Given the description of an element on the screen output the (x, y) to click on. 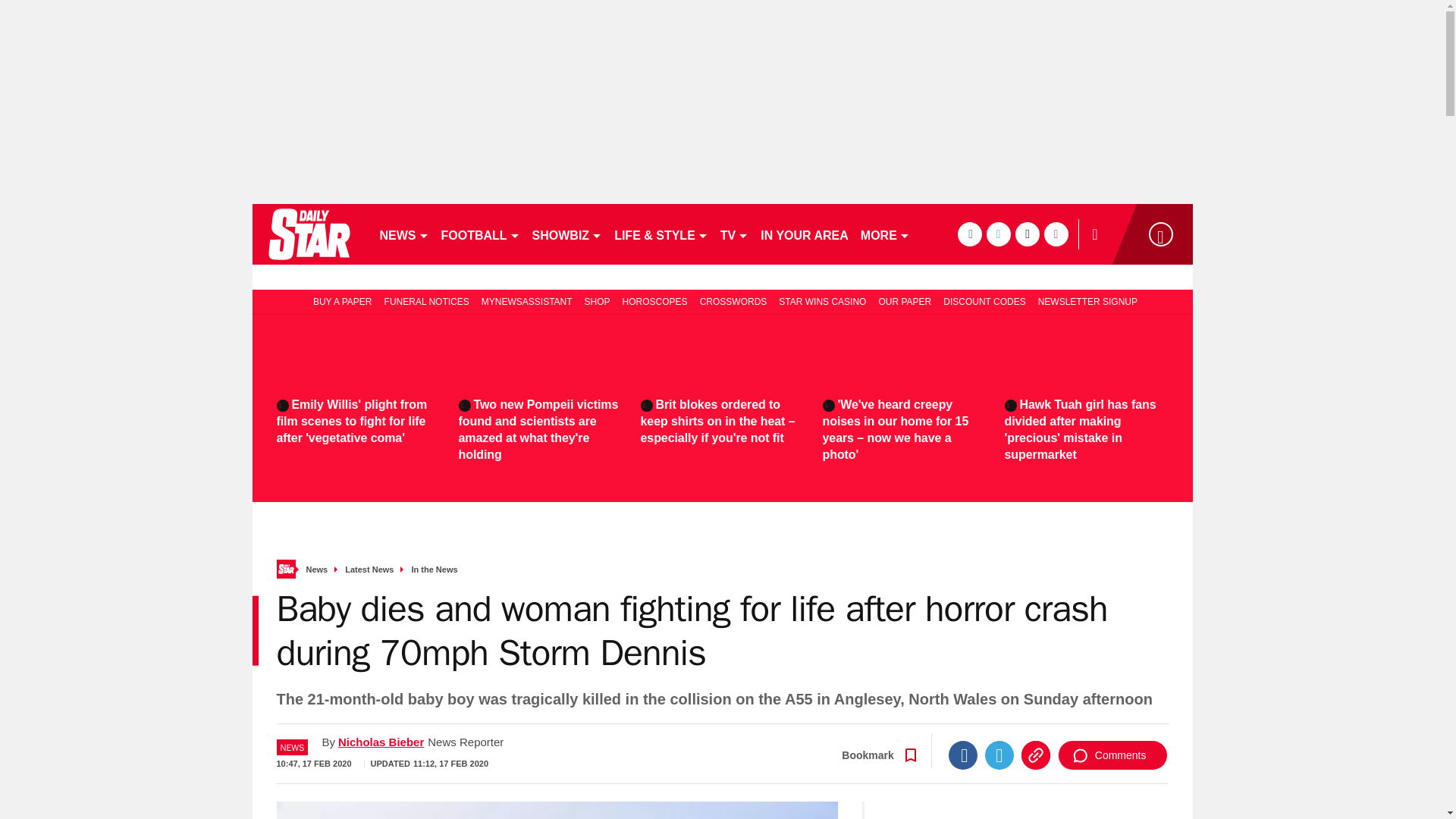
Comments (1112, 755)
facebook (968, 233)
twitter (997, 233)
NEWS (402, 233)
Facebook (962, 755)
FOOTBALL (480, 233)
SHOWBIZ (566, 233)
instagram (1055, 233)
tiktok (1026, 233)
Twitter (999, 755)
